Given the description of an element on the screen output the (x, y) to click on. 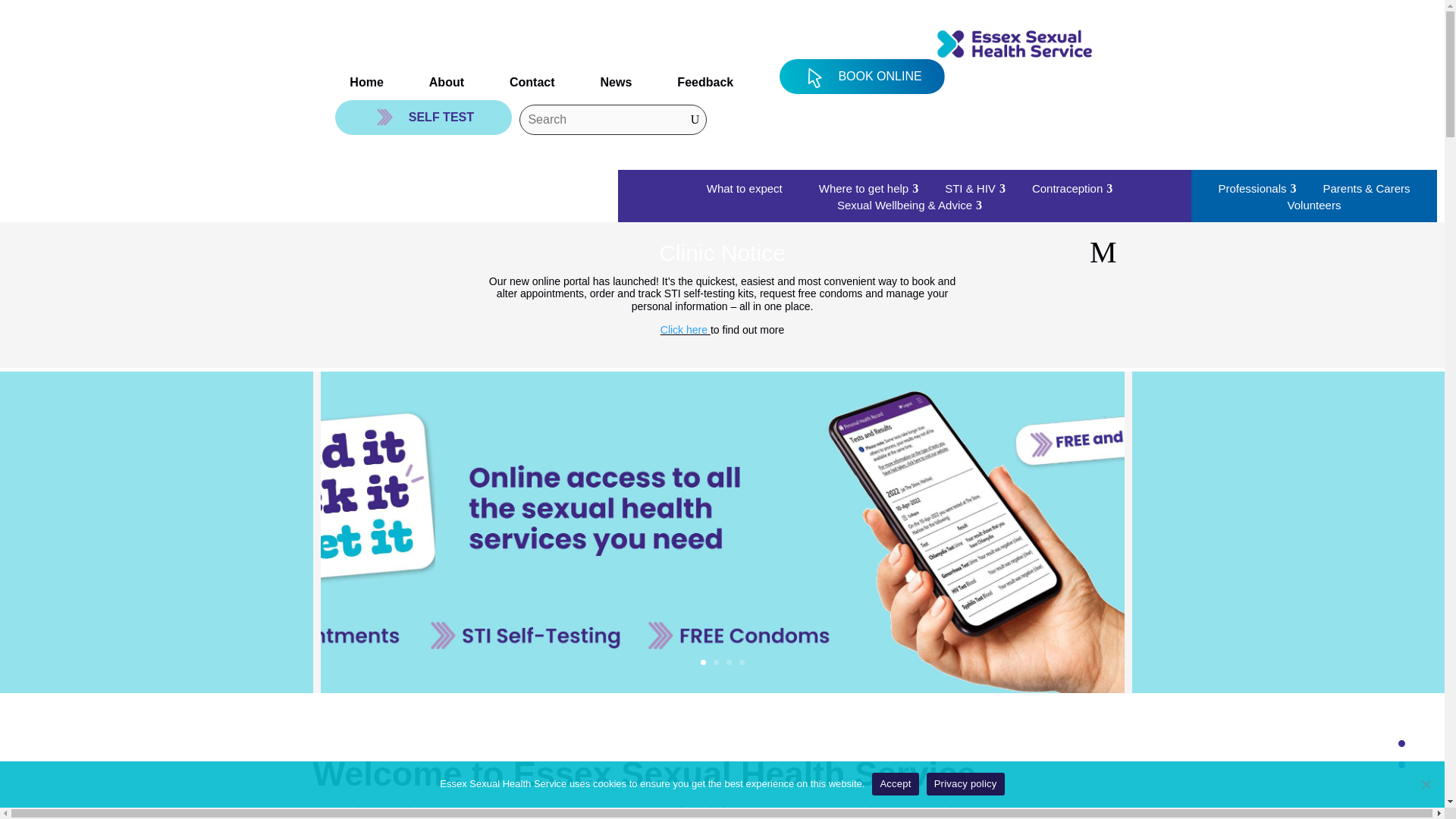
Contraception (1067, 188)
ESHS2023 - LOGO (1014, 43)
What to expect (744, 188)
Where to get help (863, 188)
